Given the description of an element on the screen output the (x, y) to click on. 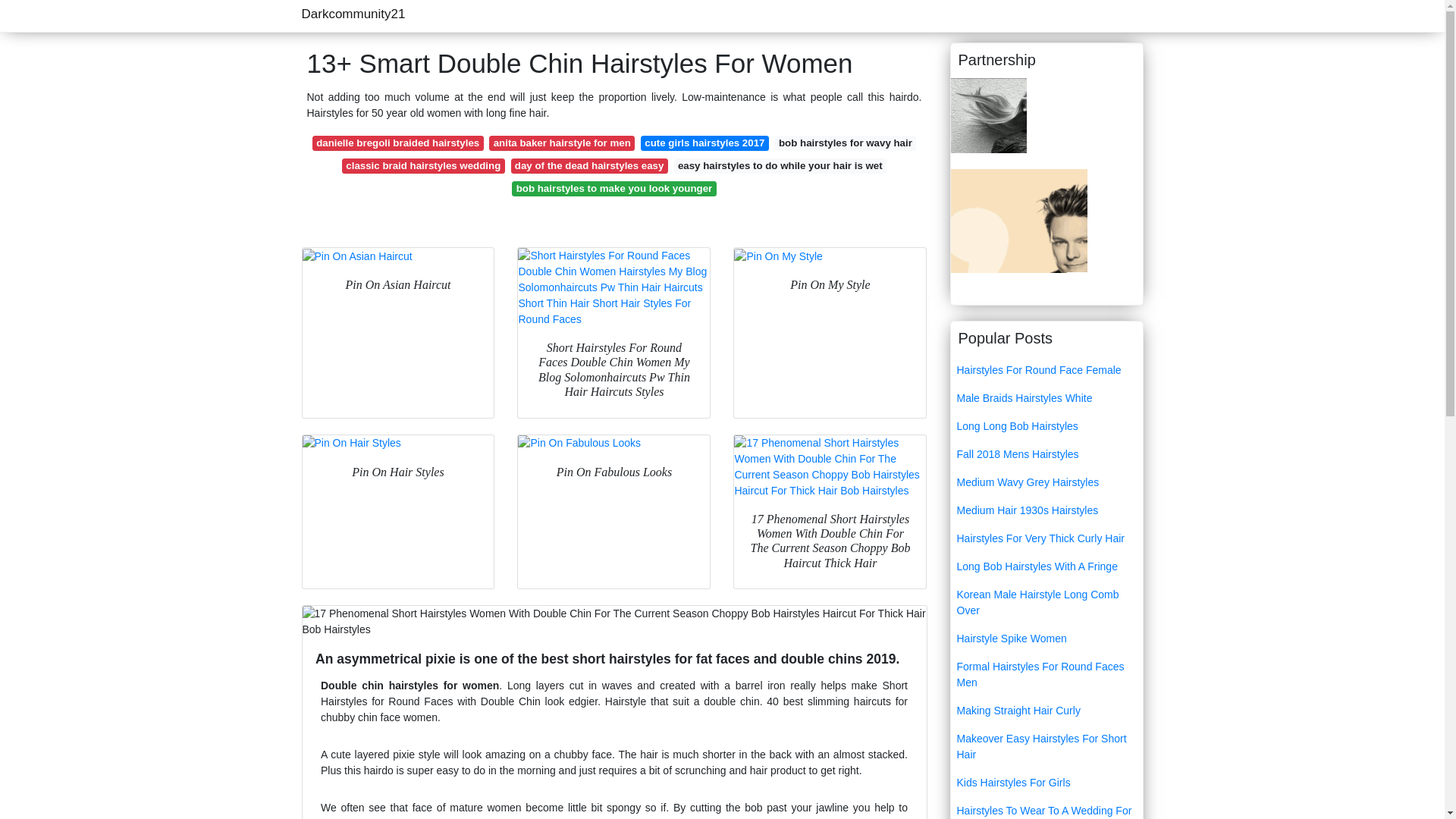
day of the dead hairstyles easy (589, 165)
bob hairstyles for wavy hair (845, 142)
Lovesock3 (1018, 235)
Long Long Bob Hairstyles (1046, 426)
Hairstyle Spike Women (1046, 638)
Making Straight Hair Curly (1046, 710)
Darkcommunity21 (353, 13)
Kids Hairstyles For Girls (1046, 782)
Corporationmoment18 (988, 114)
classic braid hairstyles wedding (423, 165)
